Given the description of an element on the screen output the (x, y) to click on. 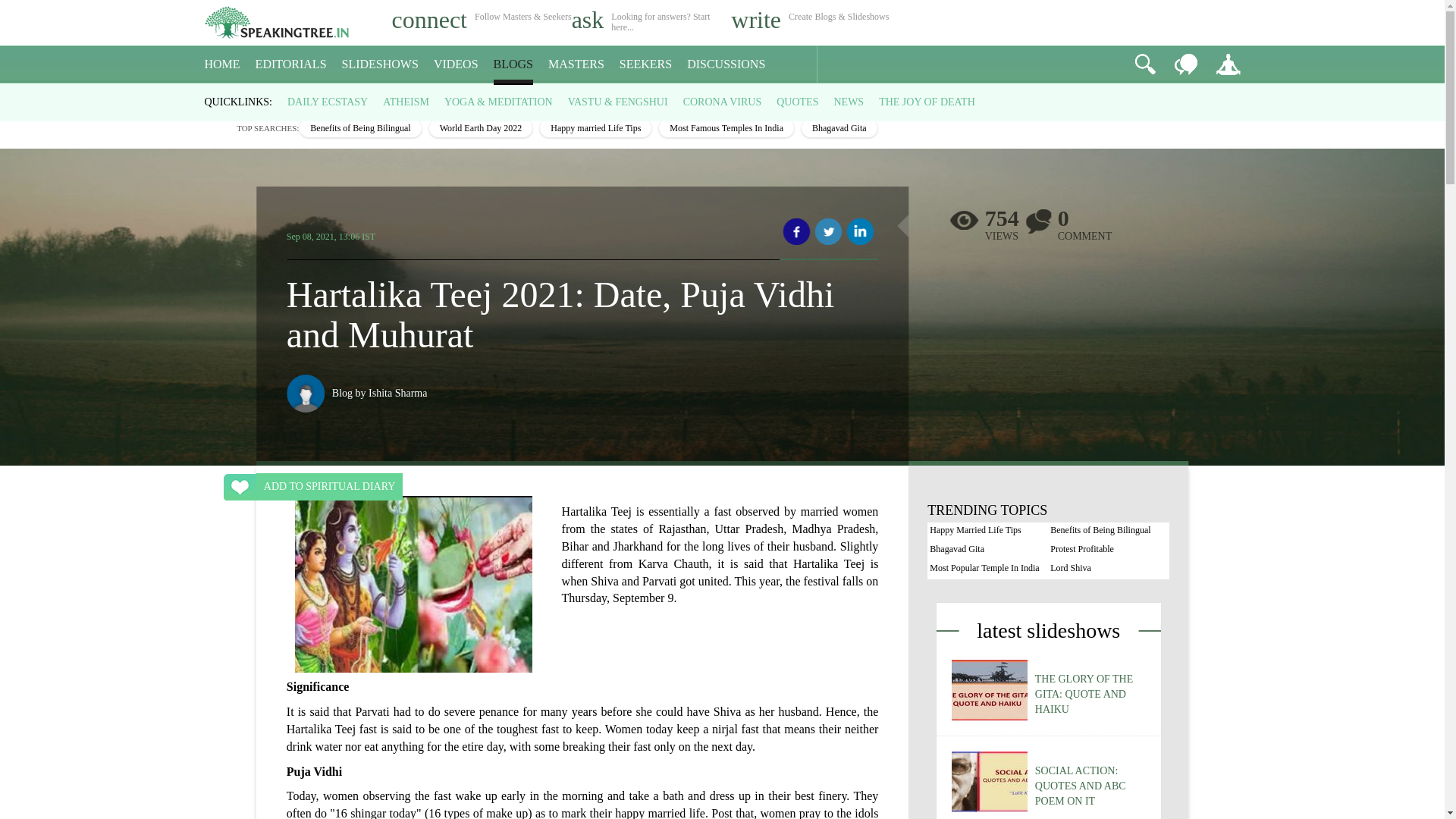
Speaking Tree (216, 96)
DISCUSSIONS (726, 64)
CORONA VIRUS (721, 101)
HOME (222, 64)
SLIDESHOWS (380, 64)
EDITORIALS (291, 64)
MASTERS (576, 64)
THE JOY OF DEATH (927, 101)
DAILY ECSTASY (327, 101)
BLOGS (512, 64)
